Given the description of an element on the screen output the (x, y) to click on. 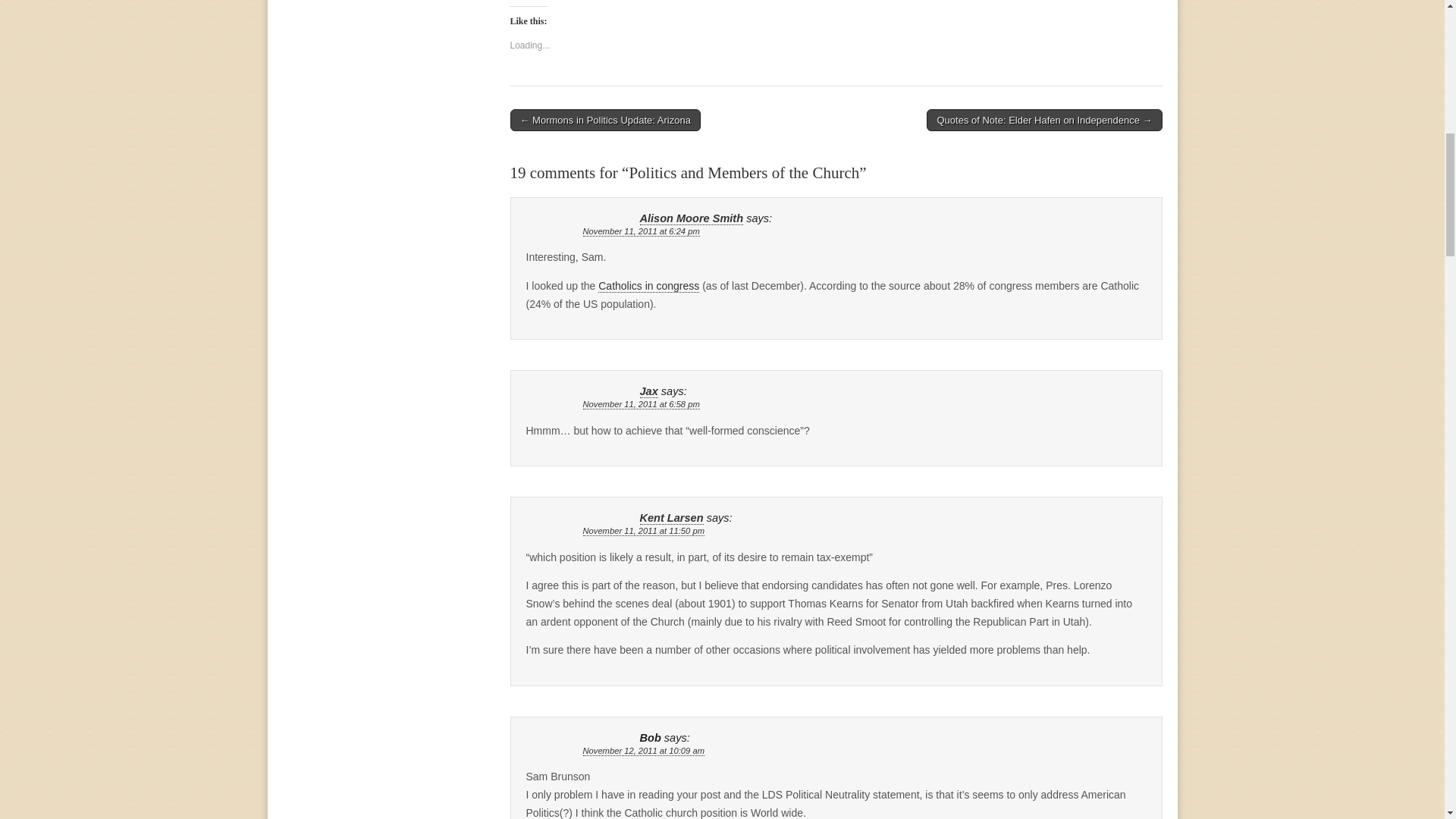
November 11, 2011 at 6:24 pm (640, 231)
Catholics in congress (648, 286)
November 11, 2011 at 11:50 pm (642, 531)
November 11, 2011 at 6:58 pm (640, 404)
November 12, 2011 at 10:09 am (642, 750)
Kent Larsen (671, 517)
Jax (649, 391)
Alison Moore Smith (692, 218)
